Given the description of an element on the screen output the (x, y) to click on. 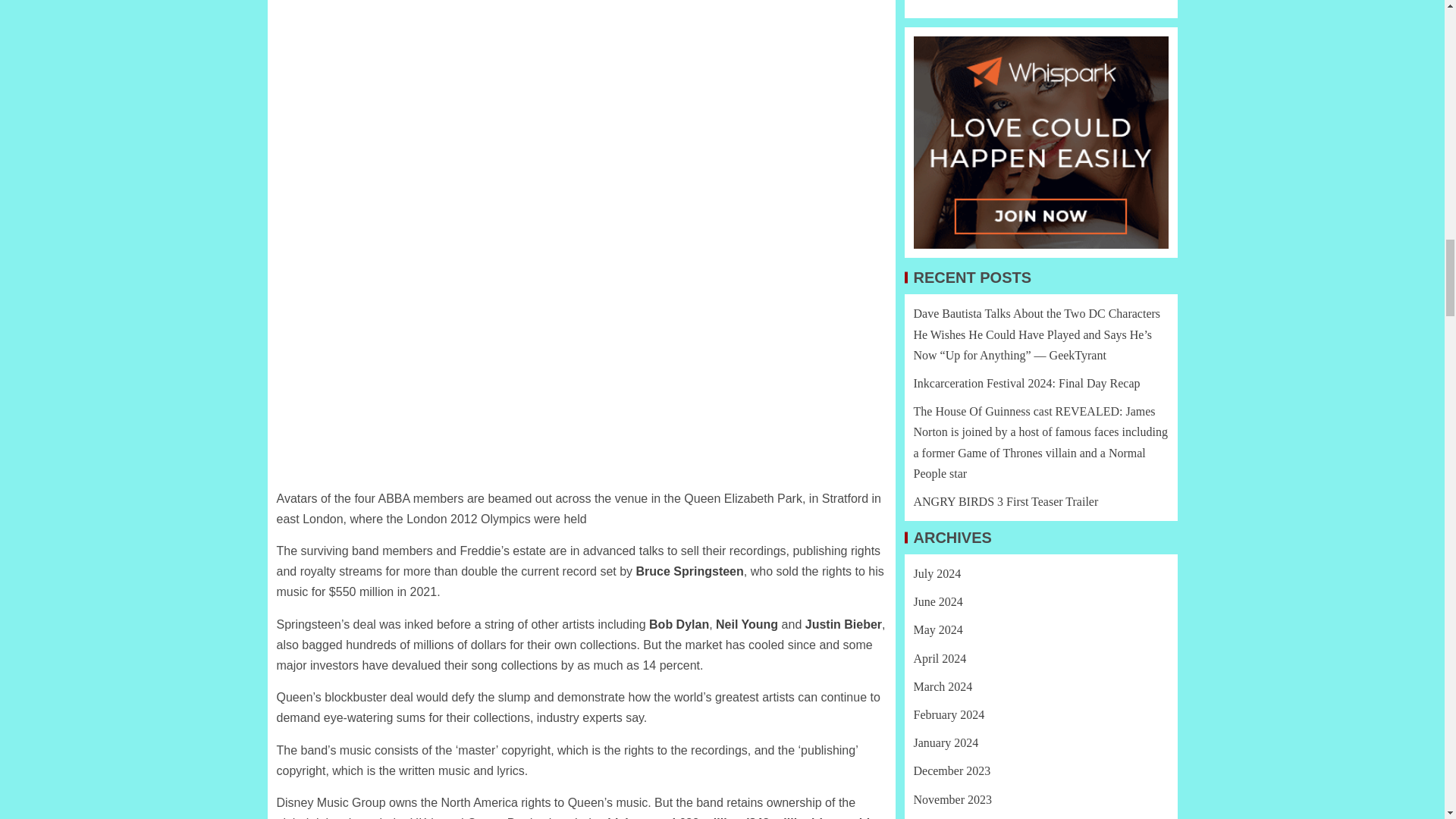
Neil Young (746, 624)
Justin Bieber (843, 624)
Bruce Springsteen (690, 571)
Bob Dylan (679, 624)
